Given the description of an element on the screen output the (x, y) to click on. 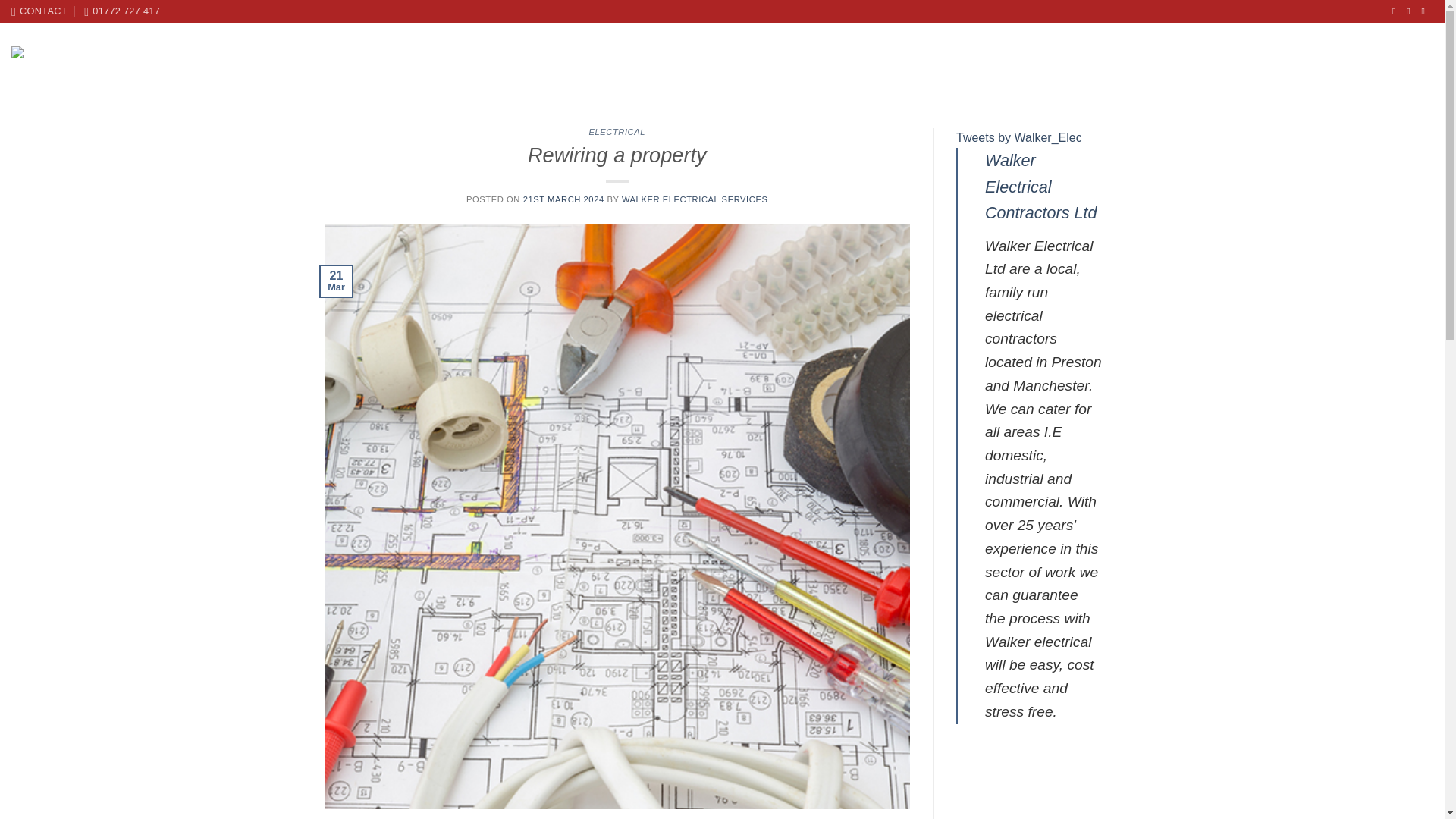
01772 727 417 (122, 11)
HOME (943, 63)
EVENTS (1194, 63)
INSTANT QUOTE (1392, 63)
CONTACT (38, 11)
Walker Electrical Ltd - Commercial Electrical contractors (89, 63)
01772 727 417 (122, 11)
21ST MARCH 2024 (563, 198)
WALKER ELECTRICAL SERVICES (694, 198)
ELECTRICAL (616, 131)
